Given the description of an element on the screen output the (x, y) to click on. 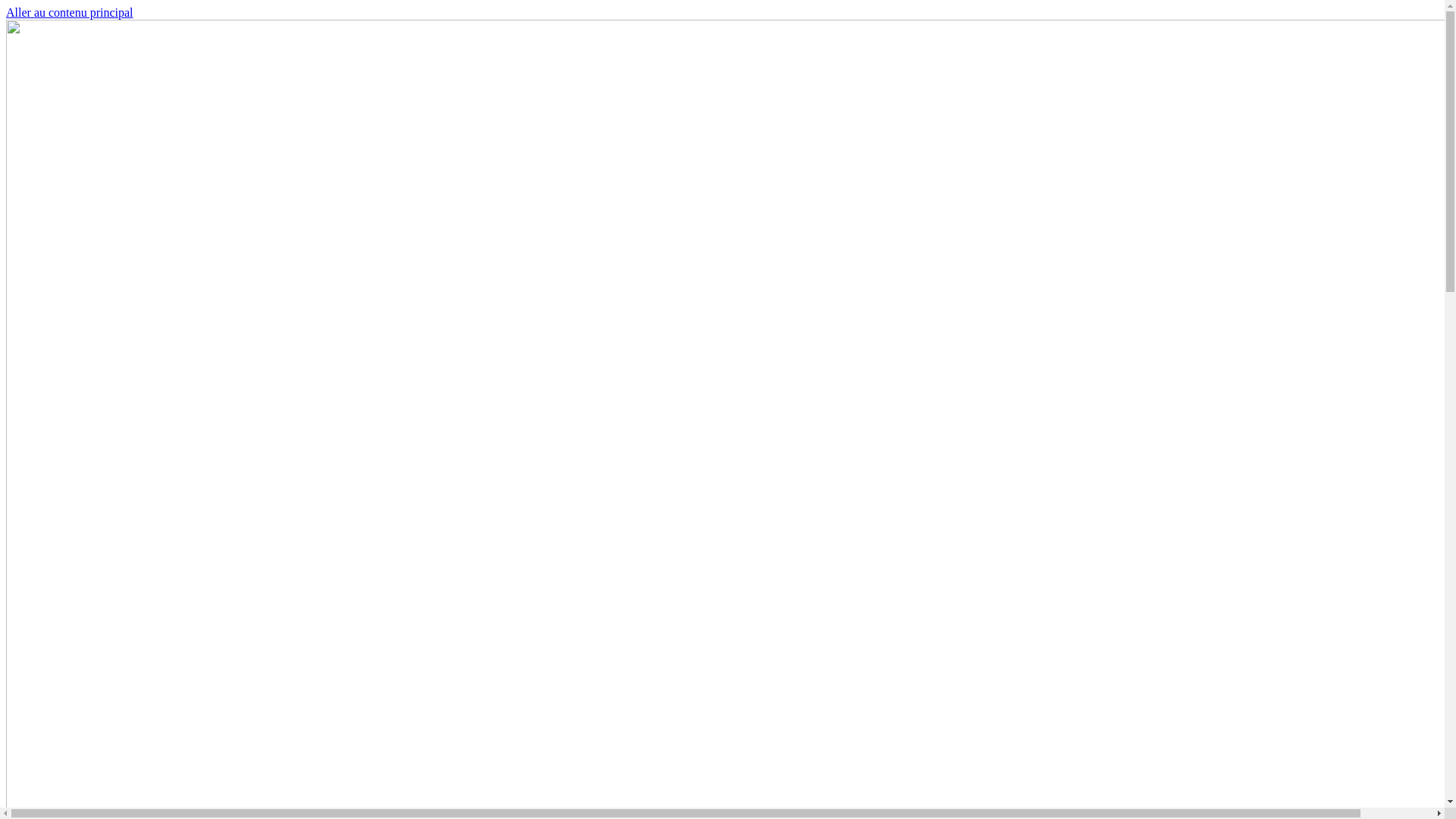
Aller au contenu principal Element type: text (69, 12)
